Given the description of an element on the screen output the (x, y) to click on. 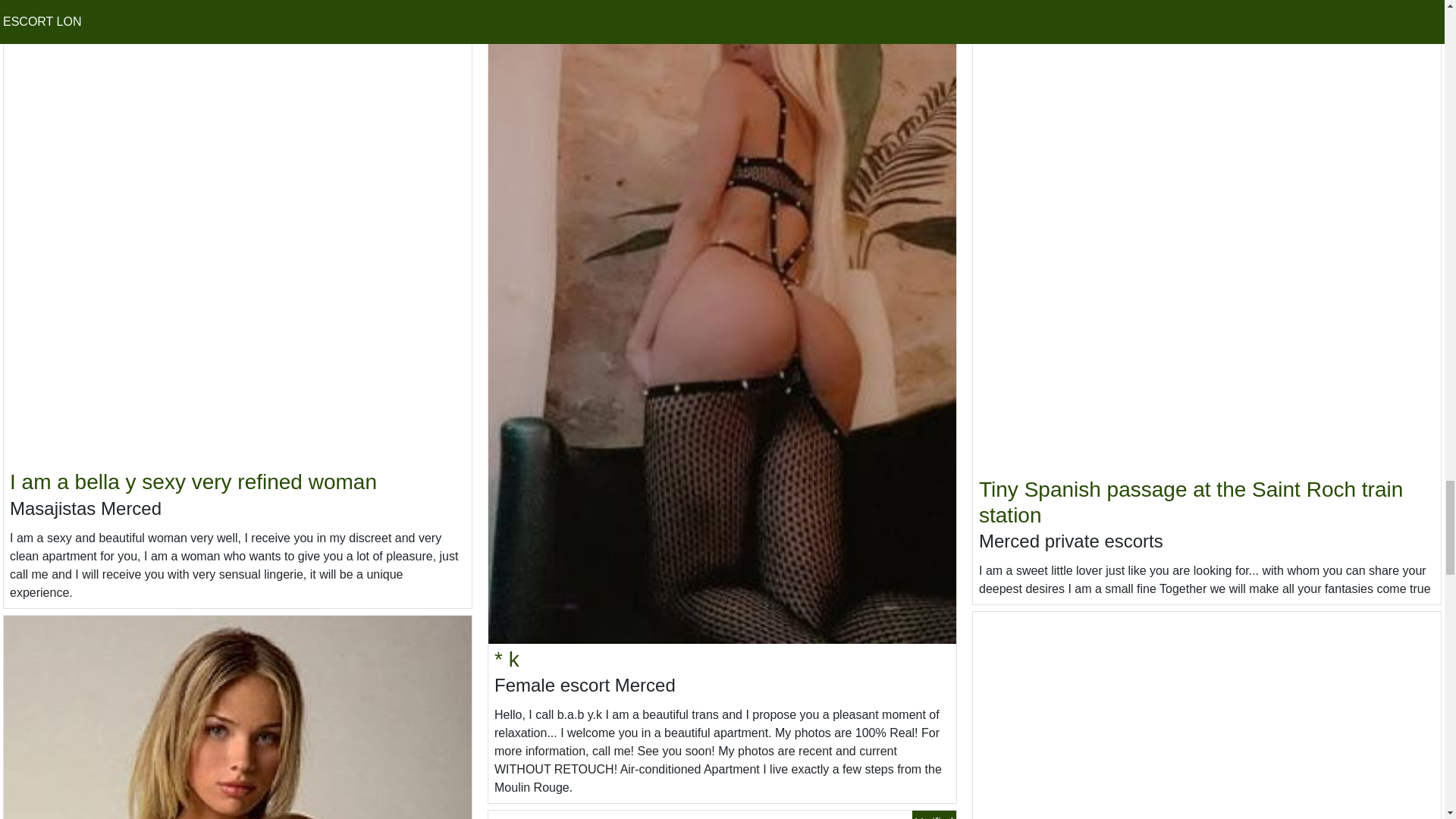
I am a bella y sexy very refined woman (193, 481)
